Given the description of an element on the screen output the (x, y) to click on. 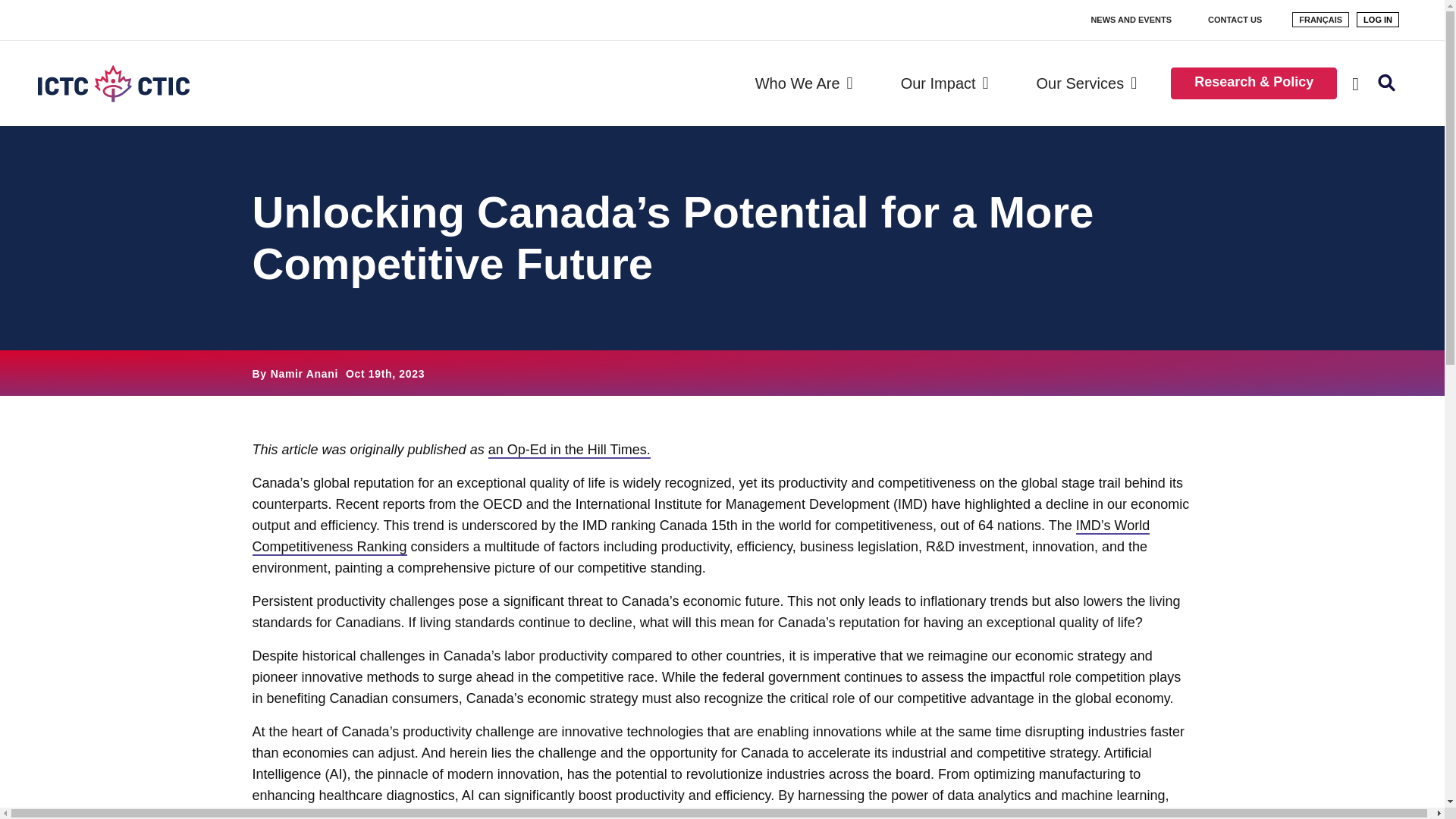
Our Services (1089, 83)
Thursday, October 19, 2023 - 00:00 (385, 373)
LOG IN (1377, 18)
ICTC (120, 83)
NEWS AND EVENTS (1130, 19)
Our Impact (946, 83)
CONTACT US (1235, 19)
Skip to main content (8, 9)
Toggle Search (1387, 83)
Home (120, 83)
an Op-Ed in the Hill Times. (568, 450)
Who We Are (806, 83)
